Given the description of an element on the screen output the (x, y) to click on. 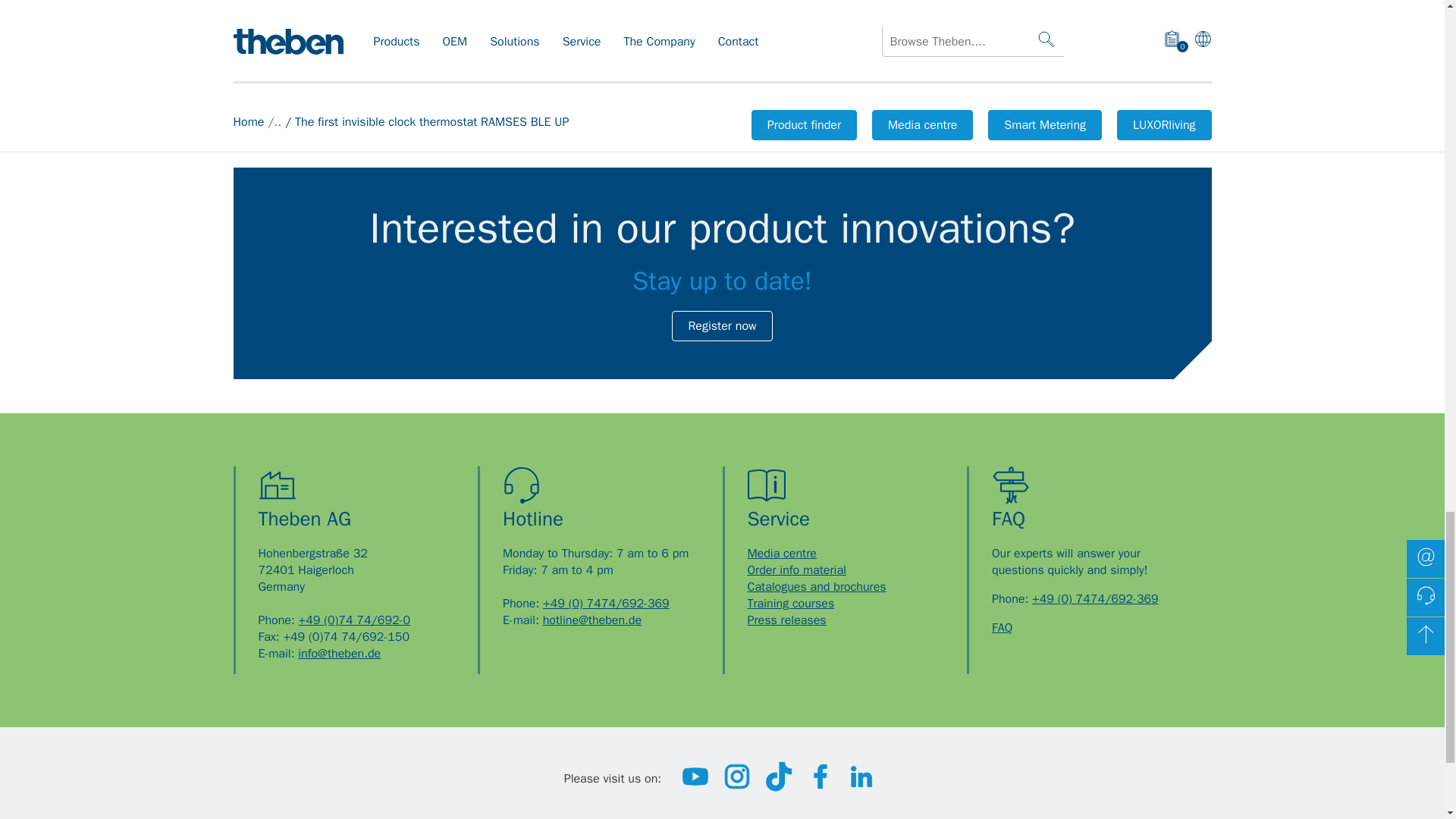
Instagram (736, 787)
Contact (1095, 598)
TikTok (778, 787)
linkedin (861, 787)
Press releases (787, 620)
 Order info material (796, 570)
Media centre (782, 553)
Hotline and FAQs (1001, 627)
Catalogues and brochures (817, 586)
Facebook (821, 787)
